Given the description of an element on the screen output the (x, y) to click on. 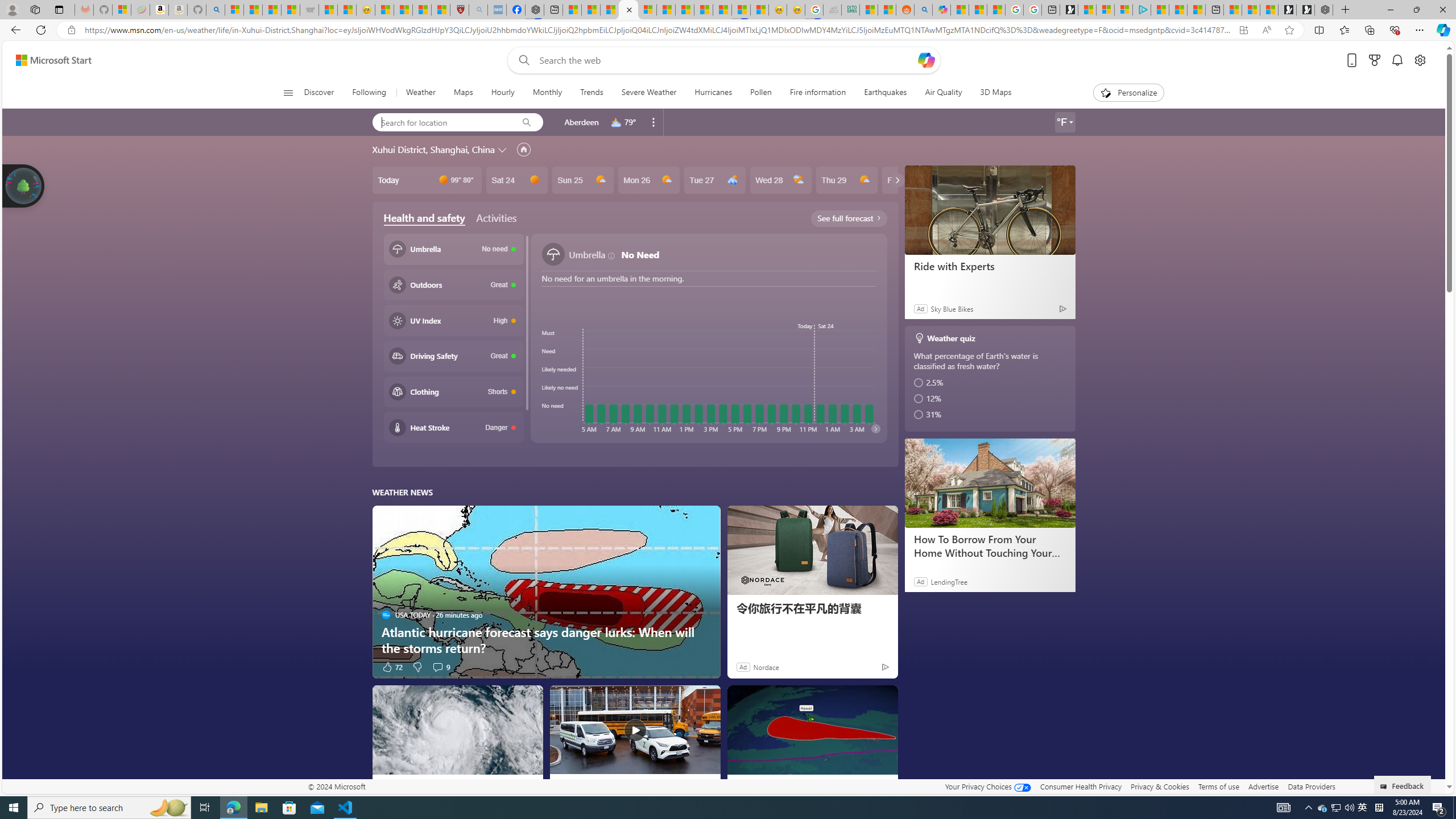
Microsoft Copilot in Bing (941, 9)
Change location (503, 149)
Earthquakes (885, 92)
72 Like (392, 666)
Trends (591, 92)
The Weather Channel (740, 785)
